Given the description of an element on the screen output the (x, y) to click on. 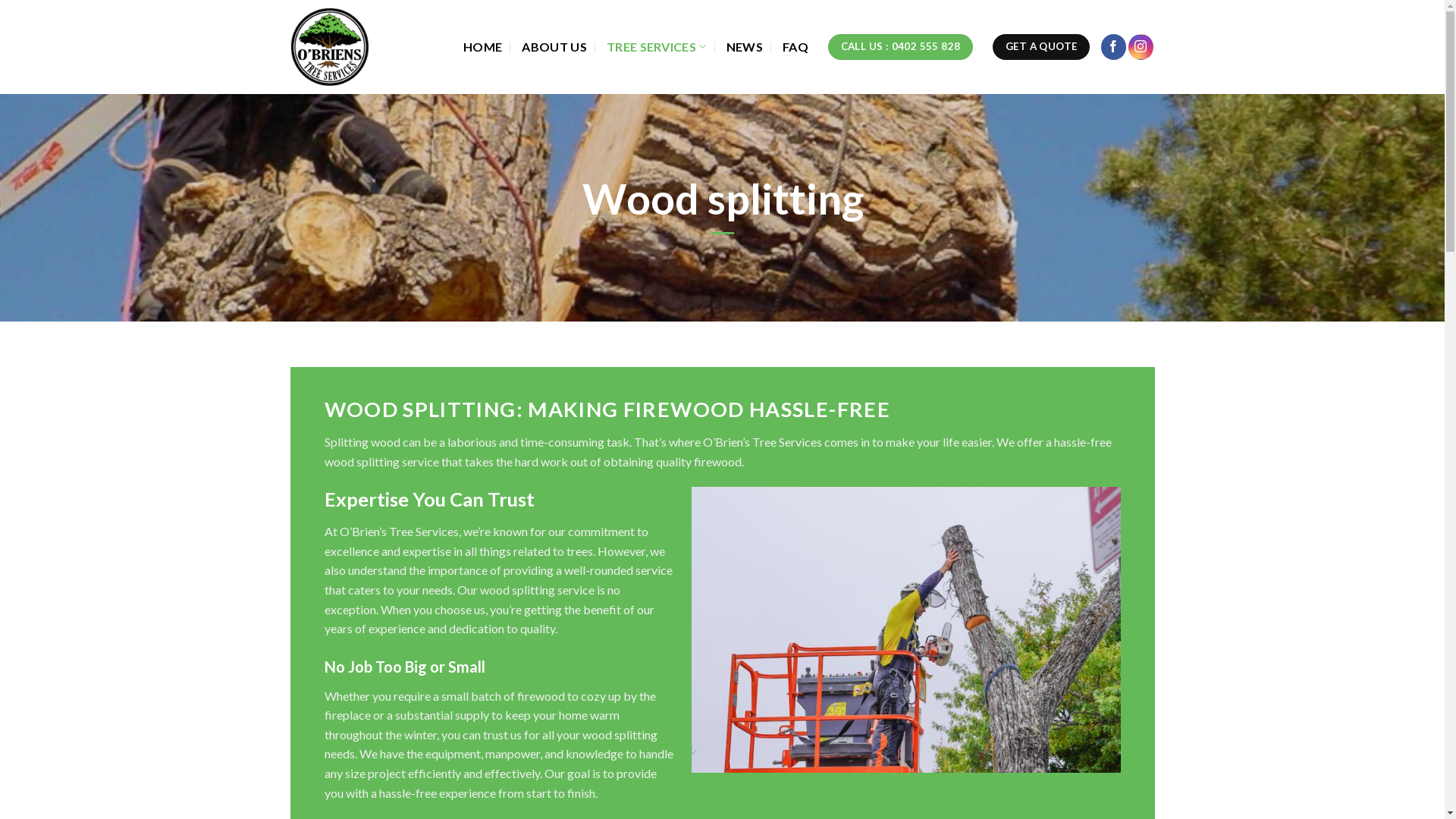
GET A QUOTE Element type: text (1040, 46)
TREE SERVICES Element type: text (656, 46)
Follow on Instagram Element type: hover (1140, 46)
ABOUT US Element type: text (553, 46)
CALL US : 0402 555 828 Element type: text (900, 46)
NEWS Element type: text (744, 46)
HOME Element type: text (482, 46)
Follow on Facebook Element type: hover (1113, 46)
20230417-DSC03312 copy - O'Briens Tree Services Canberra Element type: hover (905, 629)
FAQ Element type: text (795, 46)
